Given the description of an element on the screen output the (x, y) to click on. 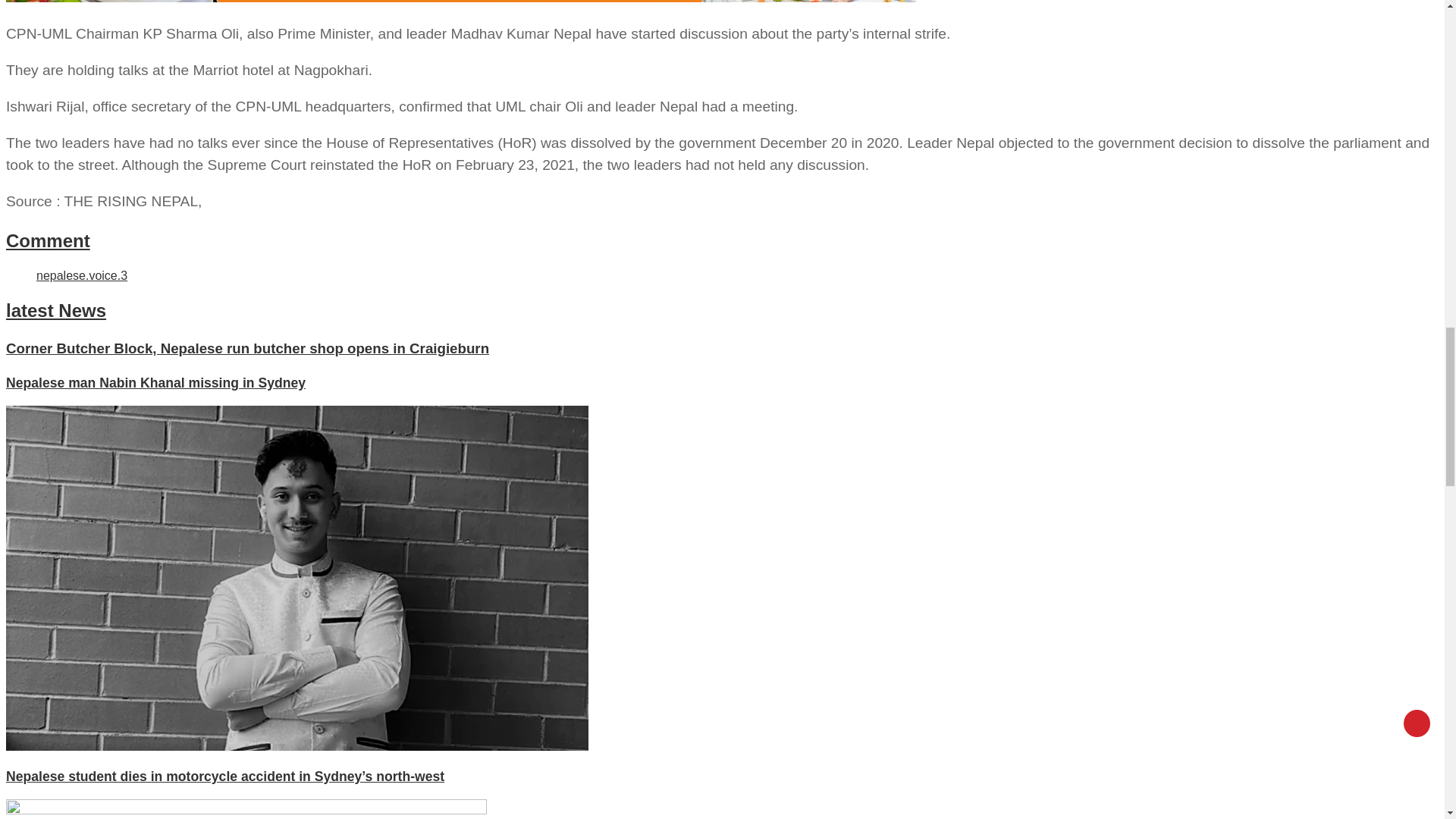
Comment (47, 240)
latest News (55, 310)
nepalese.voice.3 (82, 275)
